Given the description of an element on the screen output the (x, y) to click on. 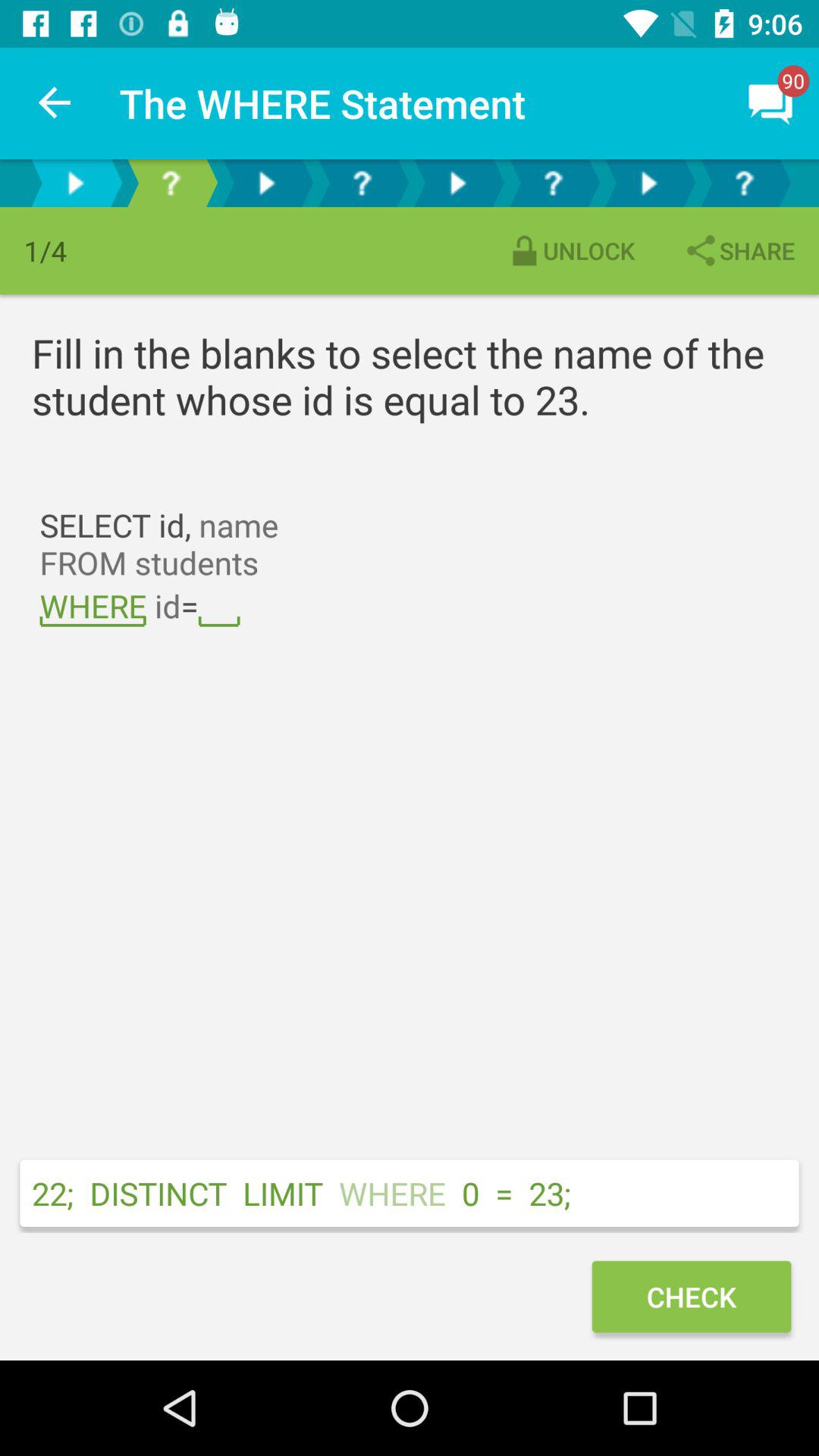
choose where statement (552, 183)
